Given the description of an element on the screen output the (x, y) to click on. 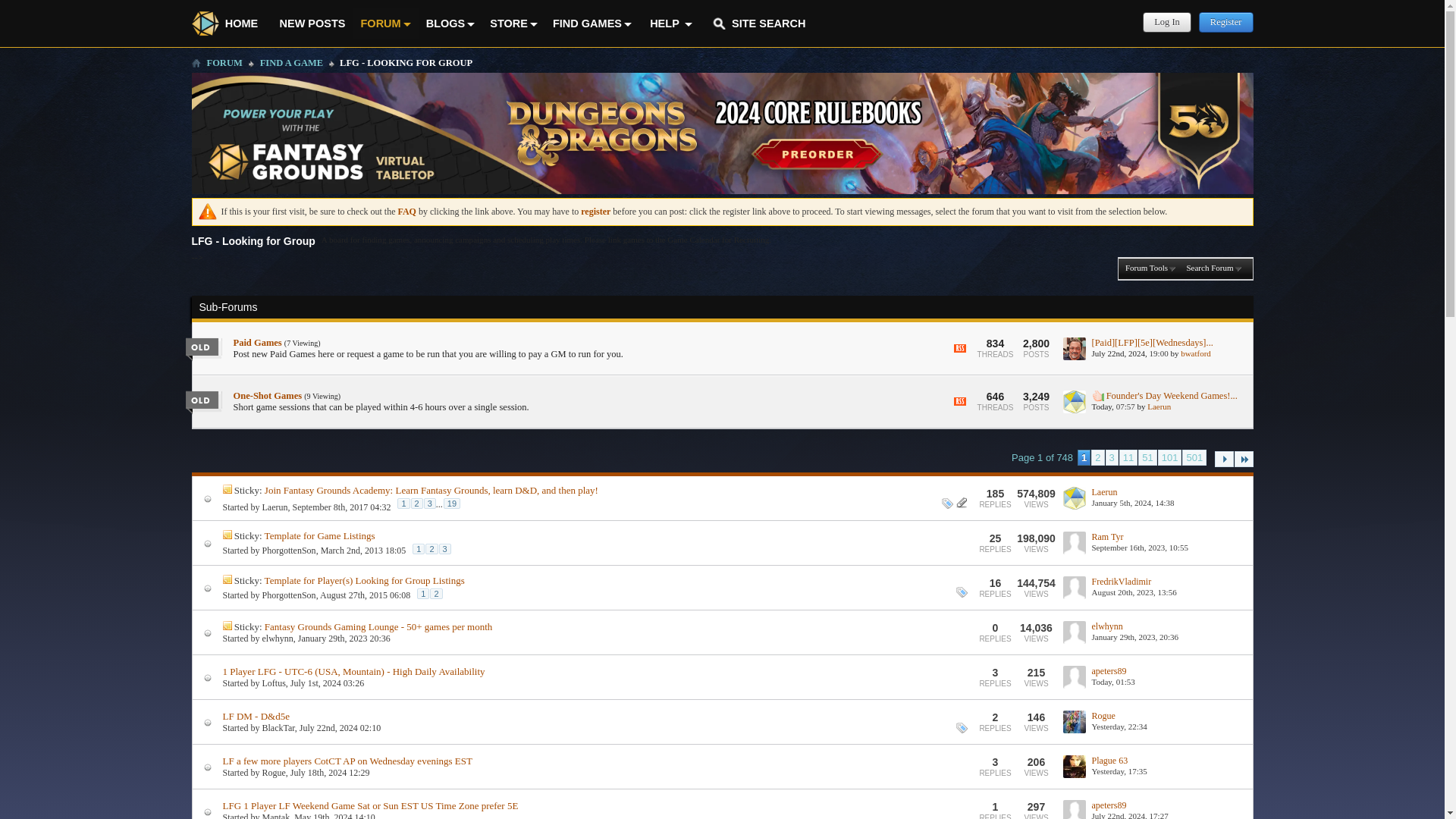
bwatford (1074, 357)
Show results 201 to 220 of 14,954 (1128, 457)
BLOGS (451, 23)
FORUM (386, 23)
STORE (512, 23)
Next Page - Results 21 to 40 of 14,954 (1223, 458)
Last Page - Results 14,941 to 14,954 of 14,954 (1243, 458)
HOME (230, 23)
Started by Laerun on September 8th, 2017 04:32 (275, 506)
FIND GAMES (591, 23)
HELP (669, 23)
Show results 1,001 to 1,020 of 14,954 (1147, 457)
Show results 2,001 to 2,020 of 14,954 (1169, 457)
NEW POSTS (311, 23)
